Given the description of an element on the screen output the (x, y) to click on. 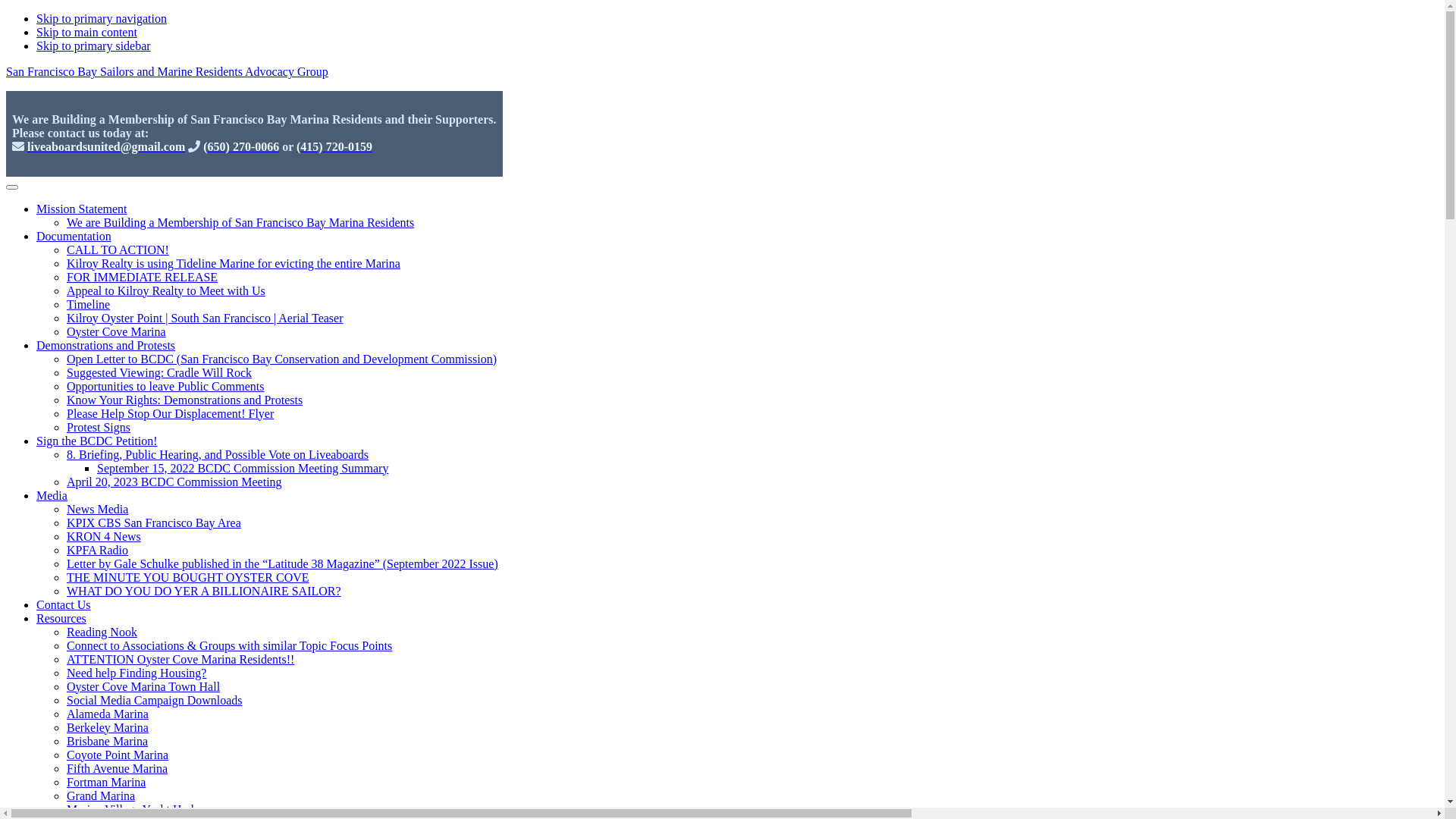
Coyote Point Marina Element type: text (117, 754)
Suggested Viewing: Cradle Will Rock Element type: text (158, 372)
Protest Signs Element type: text (98, 426)
KPIX CBS San Francisco Bay Area Element type: text (153, 522)
KPFA Radio Element type: text (97, 549)
Oyster Cove Marina Element type: text (116, 331)
WHAT DO YOU DO YER A BILLIONAIRE SAILOR? Element type: text (203, 590)
Contact Us Element type: text (63, 604)
News Media Element type: text (97, 508)
Know Your Rights: Demonstrations and Protests Element type: text (184, 399)
Social Media Campaign Downloads Element type: text (154, 699)
Timeline Element type: text (87, 304)
THE MINUTE YOU BOUGHT OYSTER COVE Element type: text (187, 577)
Skip to main content Element type: text (86, 31)
Berkeley Marina Element type: text (107, 727)
Mission Statement Element type: text (81, 208)
Fortman Marina Element type: text (105, 781)
Alameda Marina Element type: text (107, 713)
Need help Finding Housing? Element type: text (136, 672)
Appeal to Kilroy Realty to Meet with Us Element type: text (165, 290)
April 20, 2023 BCDC Commission Meeting Element type: text (174, 481)
(650) 270-0066 Element type: text (241, 146)
KRON 4 News Element type: text (103, 536)
Oyster Cove Marina Town Hall Element type: text (142, 686)
Fifth Avenue Marina Element type: text (116, 768)
Demonstrations and Protests Element type: text (105, 344)
CALL TO ACTION! Element type: text (117, 249)
Brisbane Marina Element type: text (106, 740)
(415) 720-0159 Element type: text (334, 146)
Please Help Stop Our Displacement! Flyer Element type: text (169, 413)
Kilroy Oyster Point | South San Francisco | Aerial Teaser Element type: text (204, 317)
Grand Marina Element type: text (100, 795)
FOR IMMEDIATE RELEASE Element type: text (141, 276)
Documentation Element type: text (73, 235)
Skip to primary sidebar Element type: text (93, 45)
Media Element type: text (51, 495)
ATTENTION Oyster Cove Marina Residents!! Element type: text (180, 658)
Marina Village Yacht Harbor Element type: text (136, 809)
Resources Element type: text (61, 617)
September 15, 2022 BCDC Commission Meeting Summary Element type: text (242, 467)
liveaboardsunited@gmail.com Element type: text (106, 146)
Reading Nook Element type: text (101, 631)
Sign the BCDC Petition! Element type: text (96, 440)
Opportunities to leave Public Comments Element type: text (164, 385)
Skip to primary navigation Element type: text (101, 18)
